Given the description of an element on the screen output the (x, y) to click on. 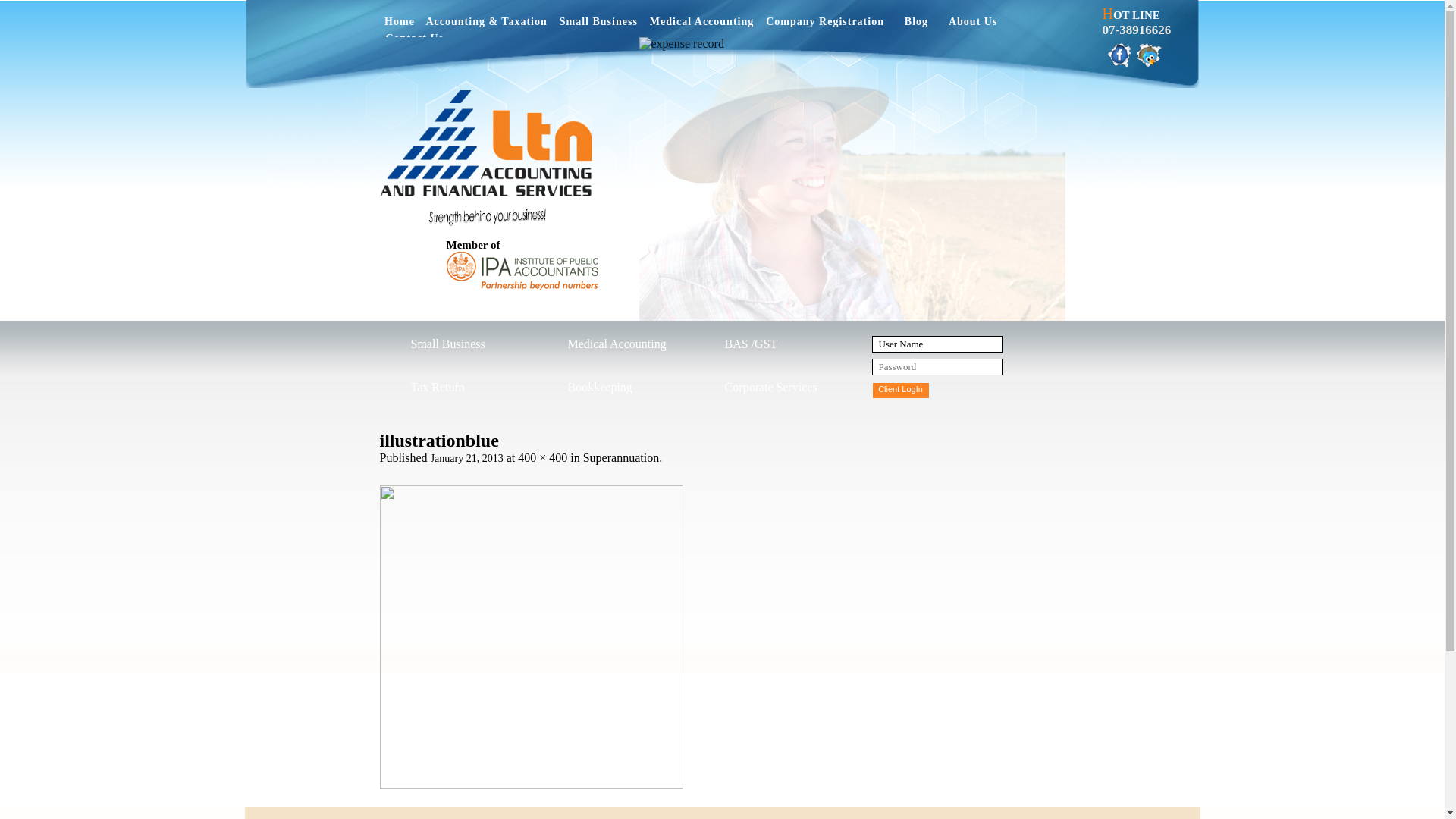
Corporate Services Element type: text (773, 389)
Blog Element type: text (916, 24)
BAS /GST Element type: text (773, 346)
Medical Accounting Element type: text (701, 24)
Superannuation Element type: text (620, 457)
Contact Us Element type: text (414, 41)
Client LogIn Element type: text (900, 390)
Company Registration Element type: text (824, 24)
Small Business Element type: text (459, 346)
Home Element type: text (399, 24)
Bookkeeping Element type: text (616, 389)
Small Business Element type: text (598, 24)
Tax Return Element type: text (459, 389)
Accounting & Taxation Element type: text (486, 24)
Medical Accounting Element type: text (616, 346)
illustrationblue Element type: hover (530, 784)
About Us Element type: text (972, 24)
